Given the description of an element on the screen output the (x, y) to click on. 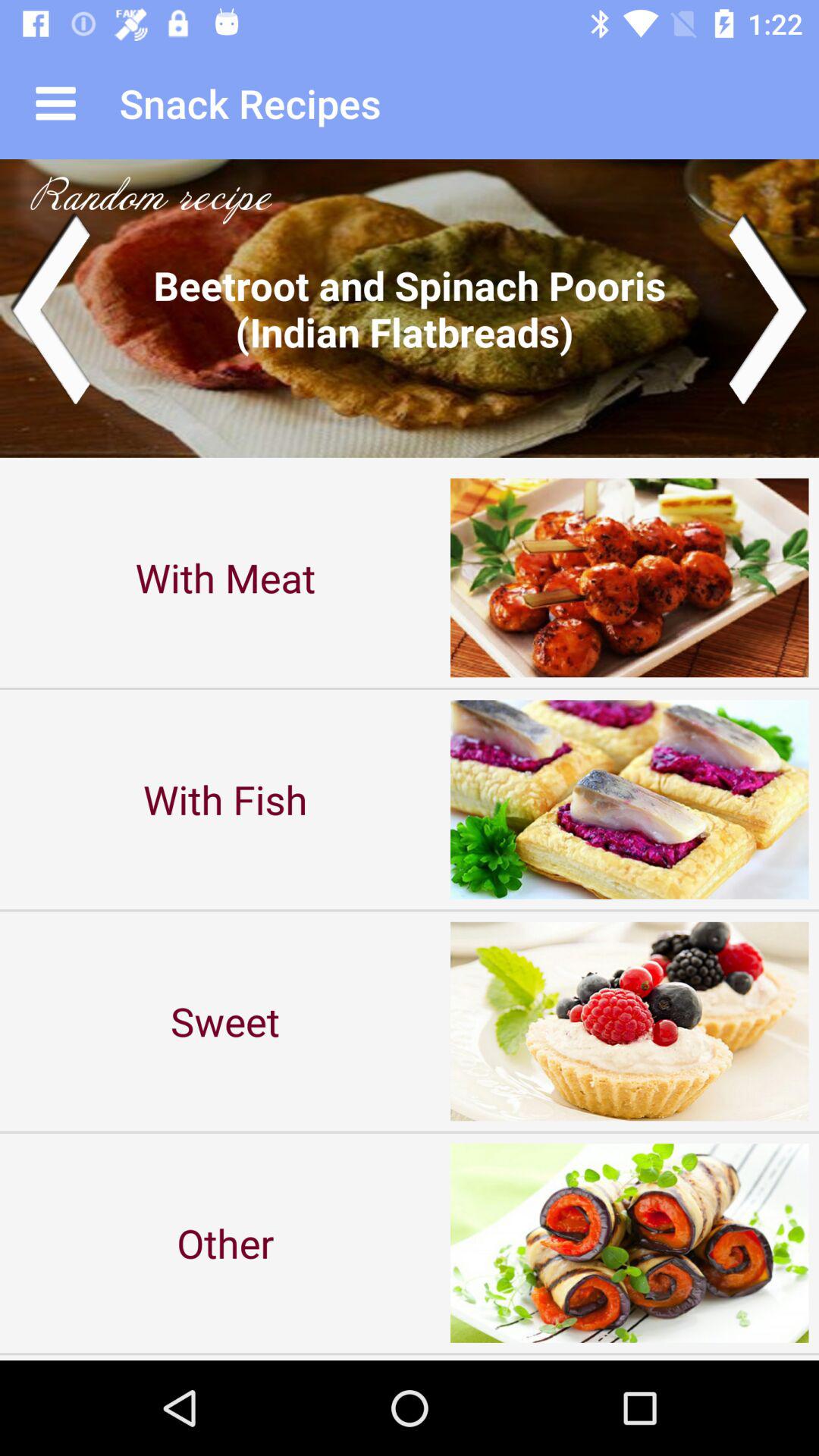
click the other icon (225, 1242)
